Given the description of an element on the screen output the (x, y) to click on. 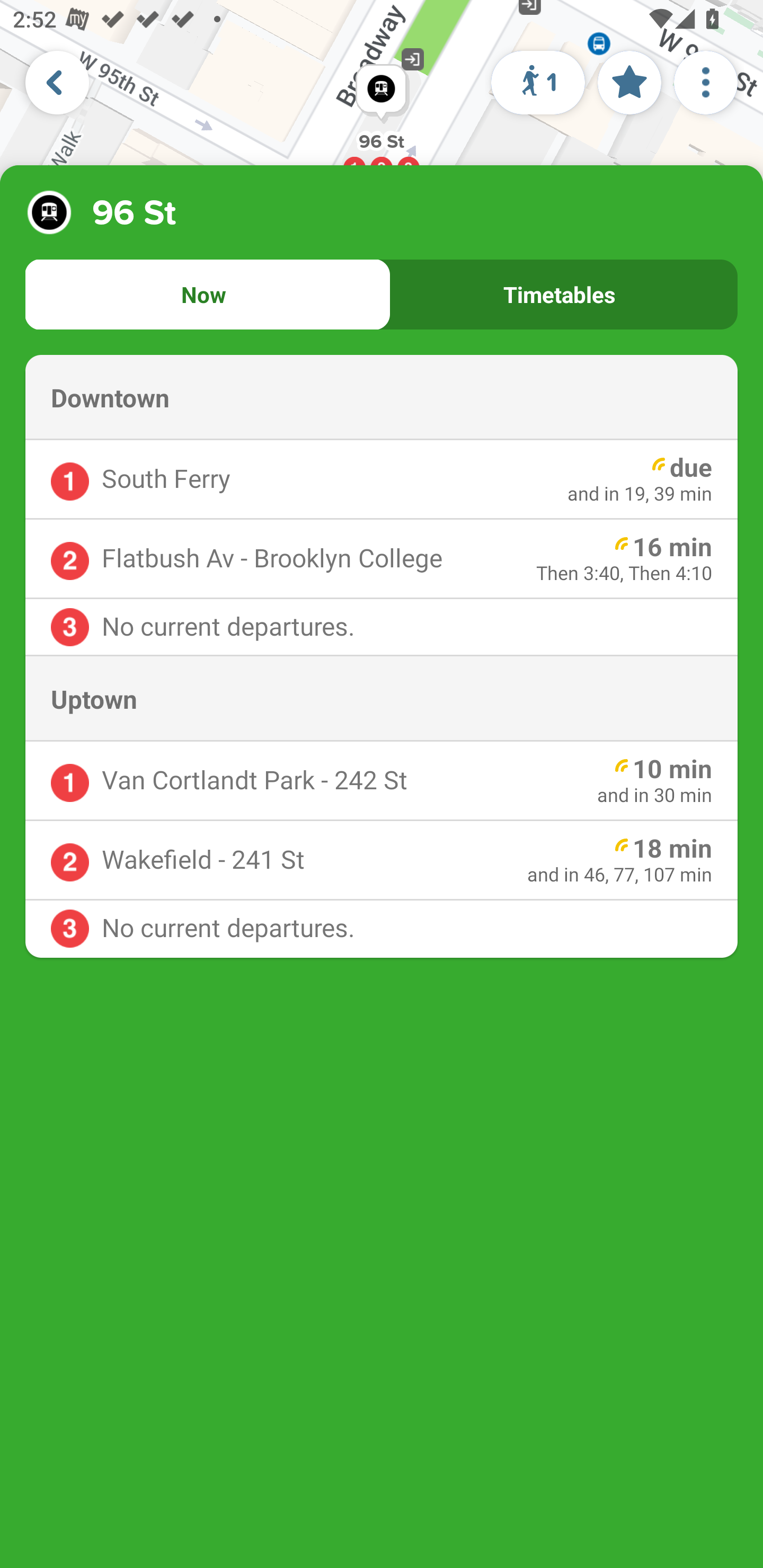
Settings (705, 81)
